Given the description of an element on the screen output the (x, y) to click on. 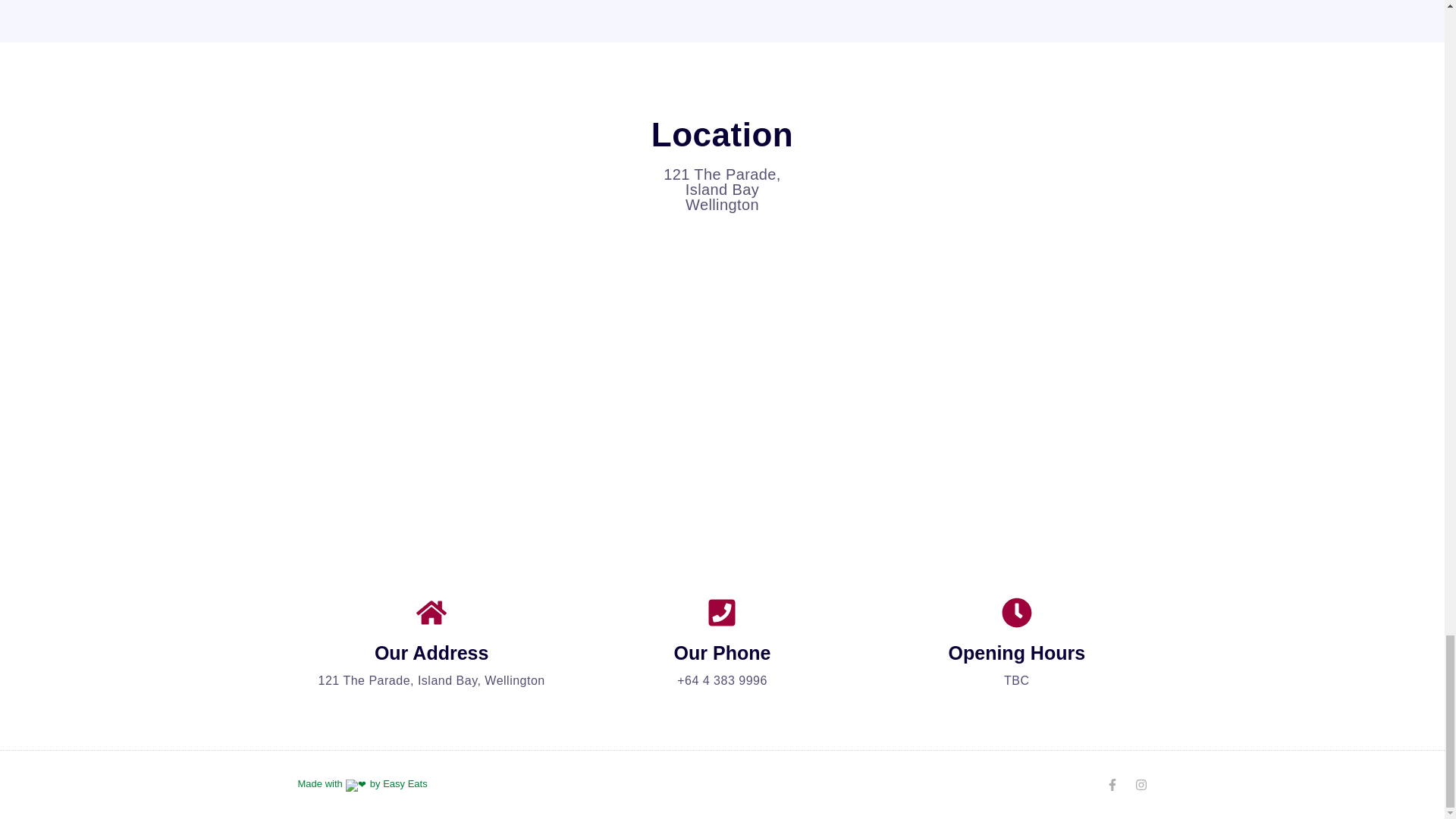
Made with by Easy Eats (361, 783)
Our Phone (722, 652)
